Given the description of an element on the screen output the (x, y) to click on. 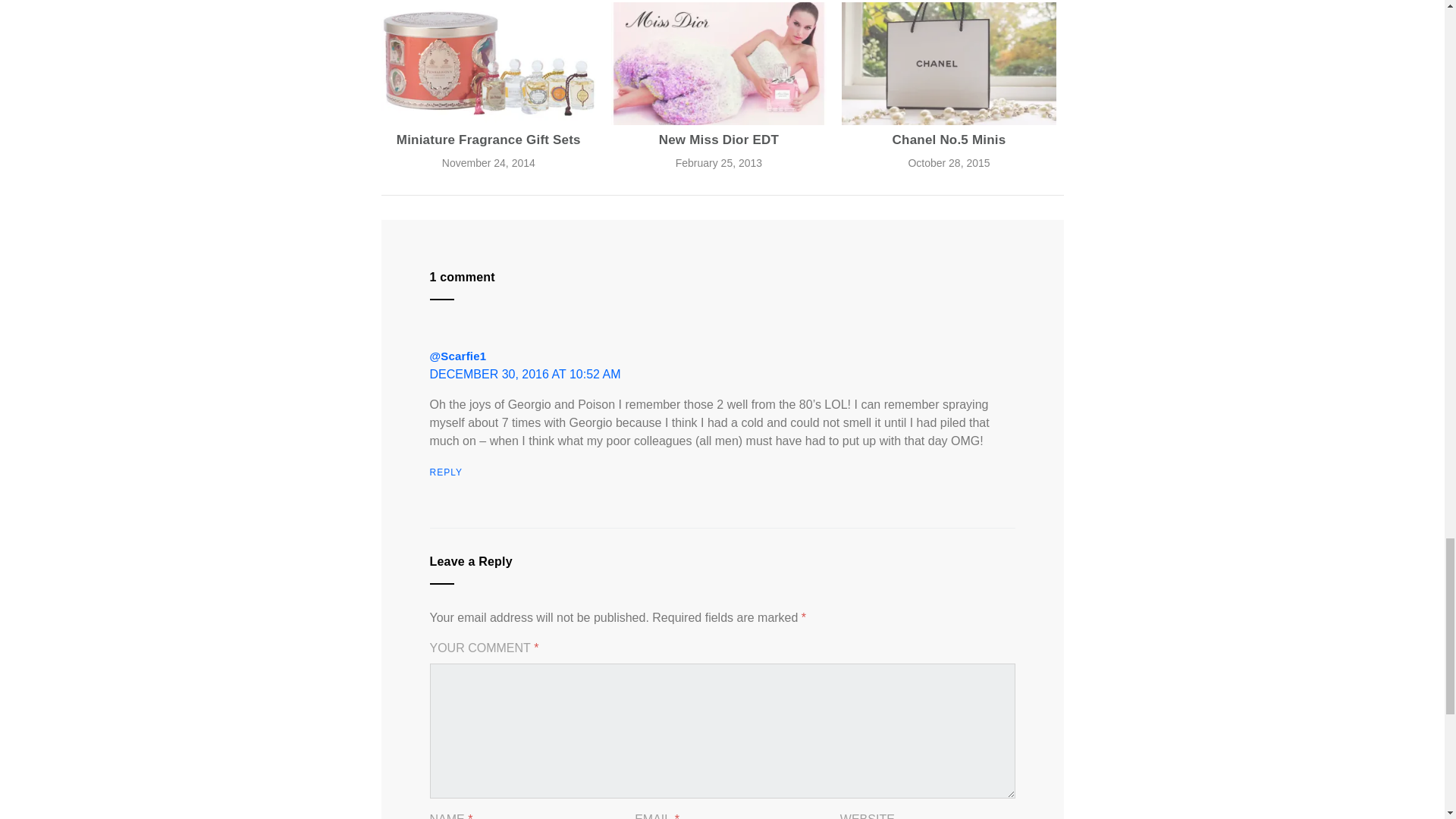
New Miss Dior EDT (719, 63)
Miniature Fragrance Gift Sets (487, 63)
Miniature Fragrance Gift Sets (487, 140)
Chanel No.5 Minis (949, 63)
Chanel No.5 Minis (949, 140)
Miniature Fragrance Gift Sets (487, 140)
New Miss Dior EDT (719, 140)
